Given the description of an element on the screen output the (x, y) to click on. 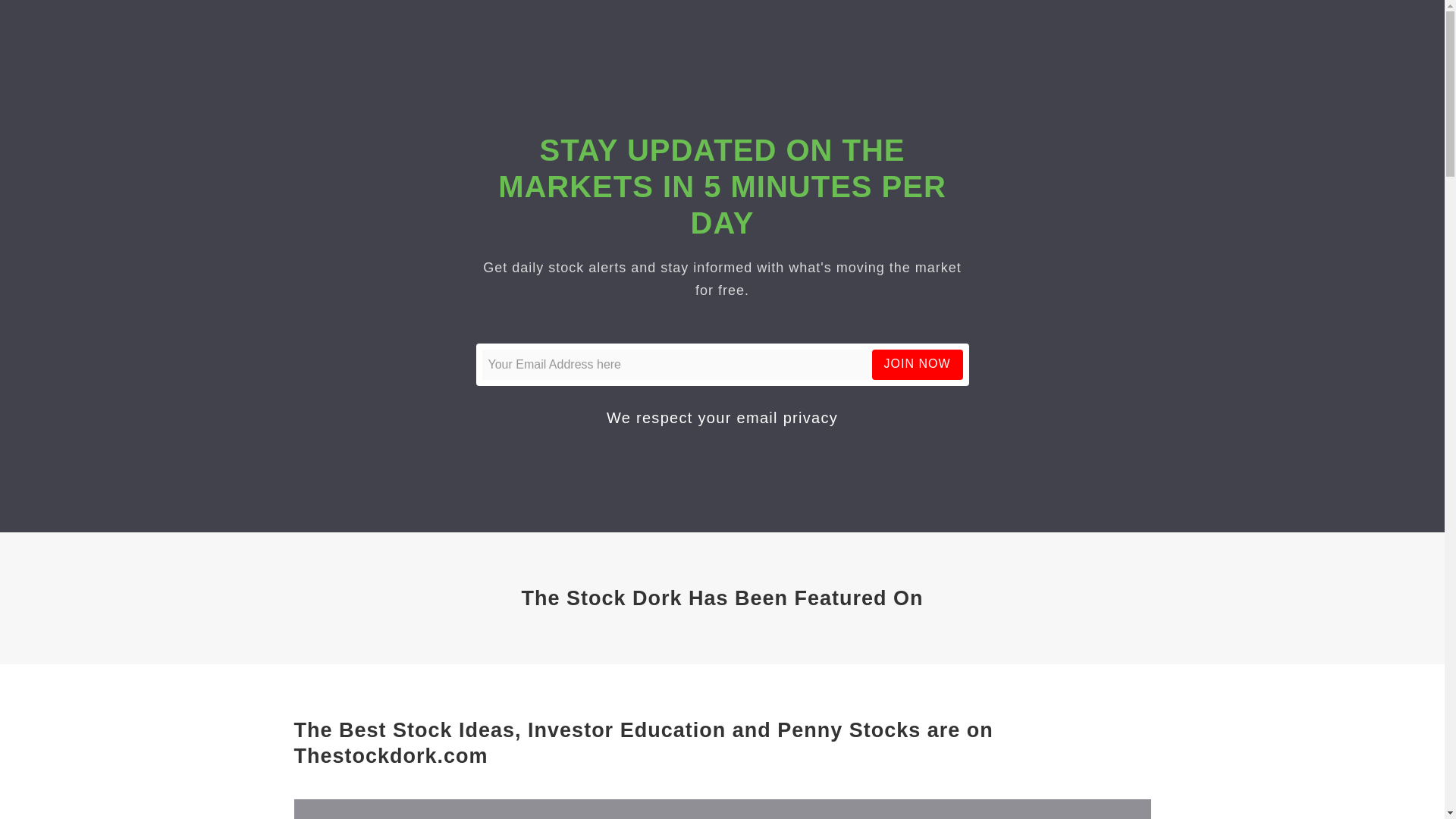
Join Now (917, 363)
Join Now (917, 363)
Privacy Policy (787, 417)
email privacy (787, 417)
